Given the description of an element on the screen output the (x, y) to click on. 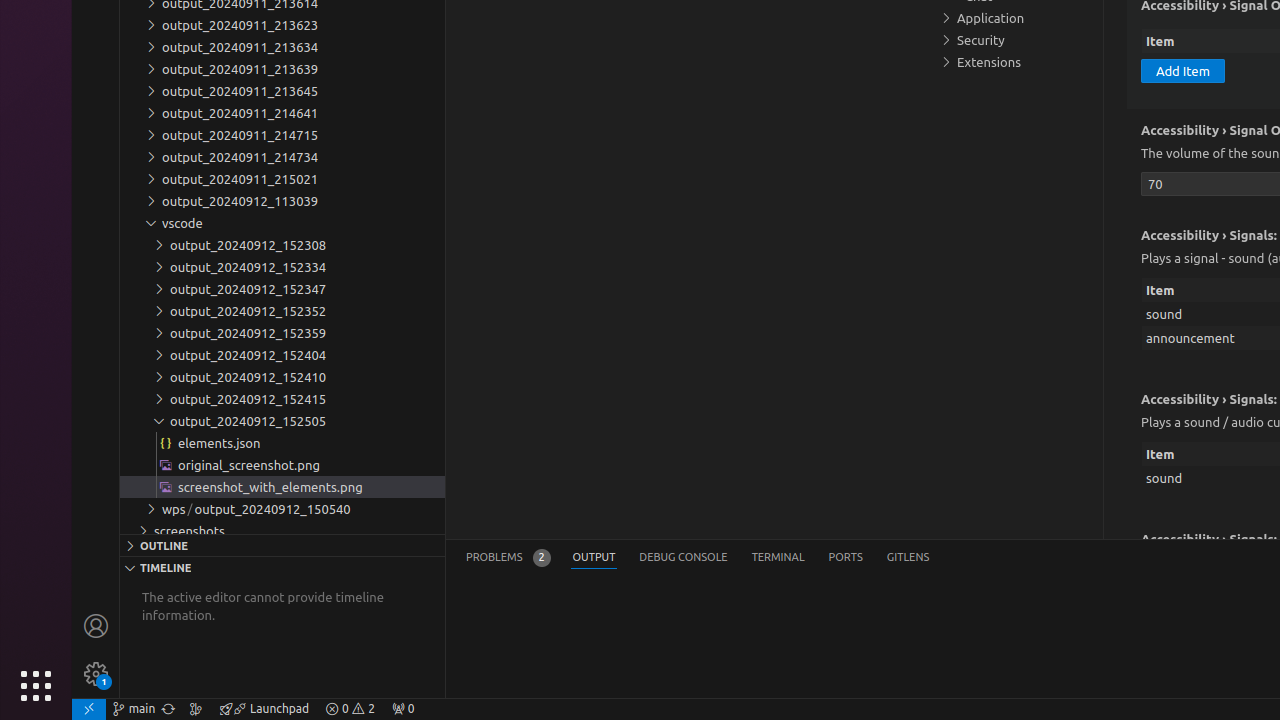
original_screenshot.png Element type: tree-item (282, 465)
output_20240912_113039 Element type: tree-item (282, 201)
No Ports Forwarded Element type: push-button (403, 709)
OSWorld (Git) - main, Checkout Branch/Tag... Element type: push-button (134, 709)
elements.json Element type: tree-item (282, 443)
